Given the description of an element on the screen output the (x, y) to click on. 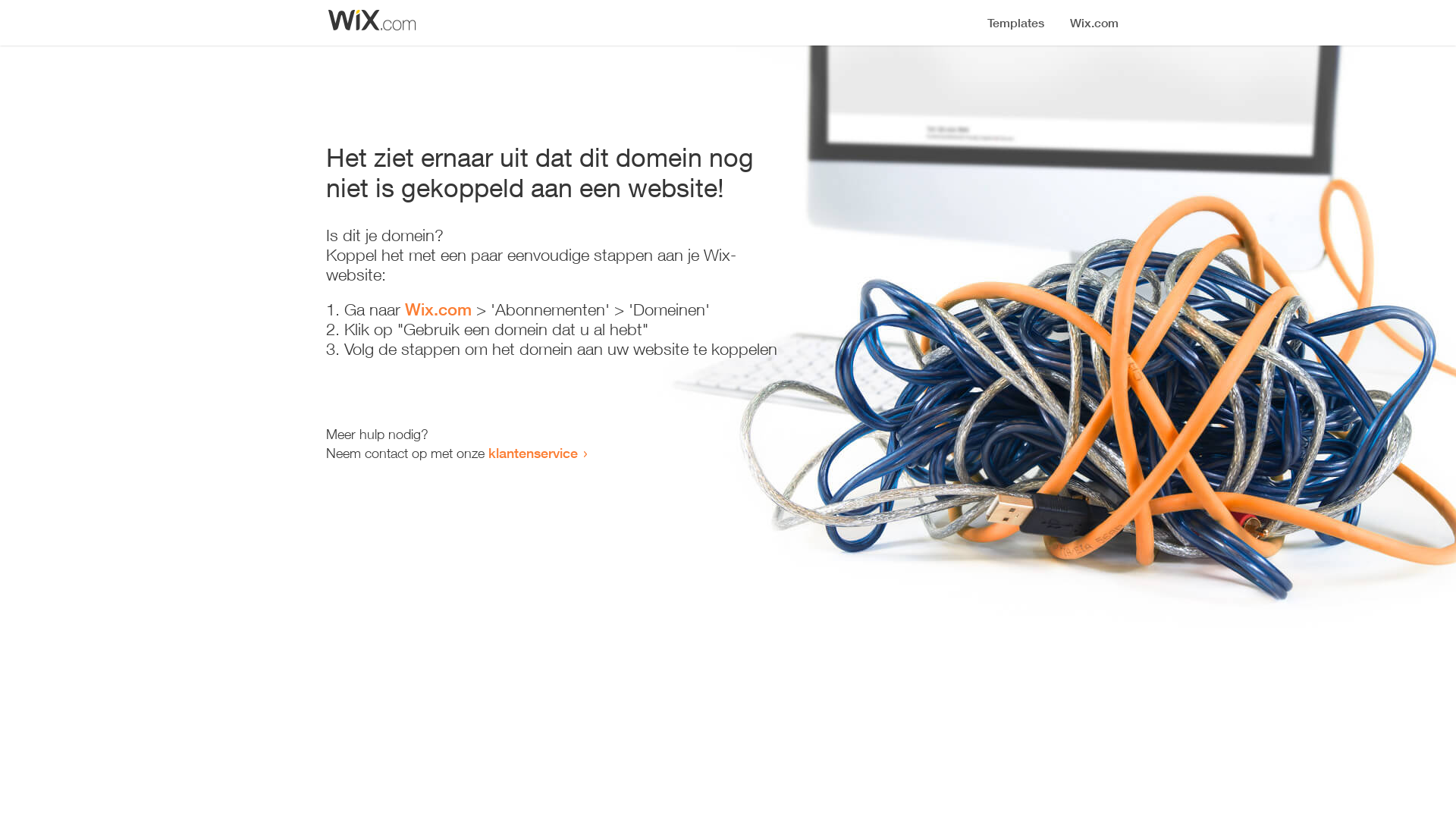
Wix.com Element type: text (437, 309)
klantenservice Element type: text (532, 452)
